Given the description of an element on the screen output the (x, y) to click on. 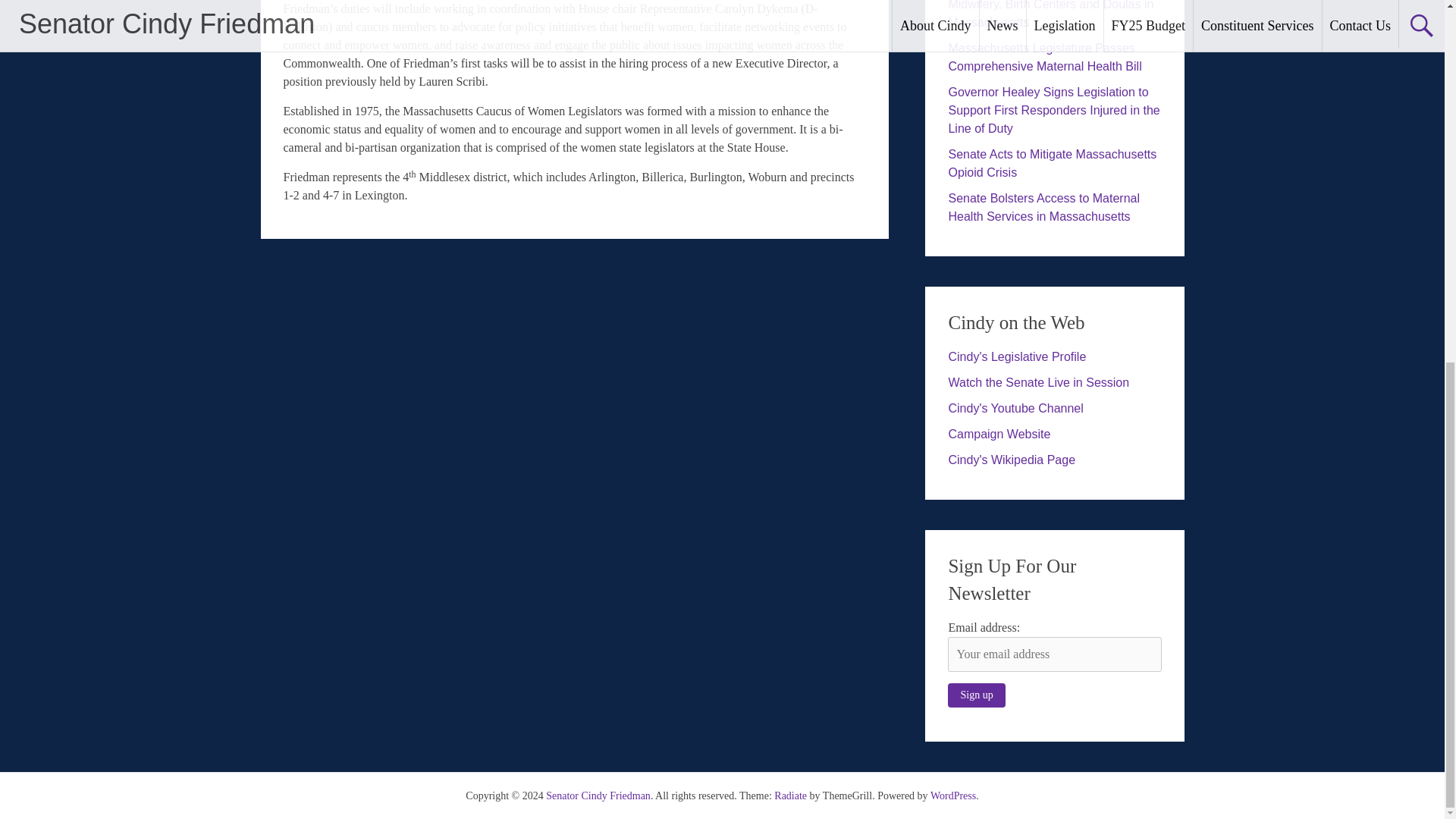
Radiate (790, 795)
Sign up (975, 695)
Senator Cindy Friedman (598, 795)
WordPress (952, 795)
